Given the description of an element on the screen output the (x, y) to click on. 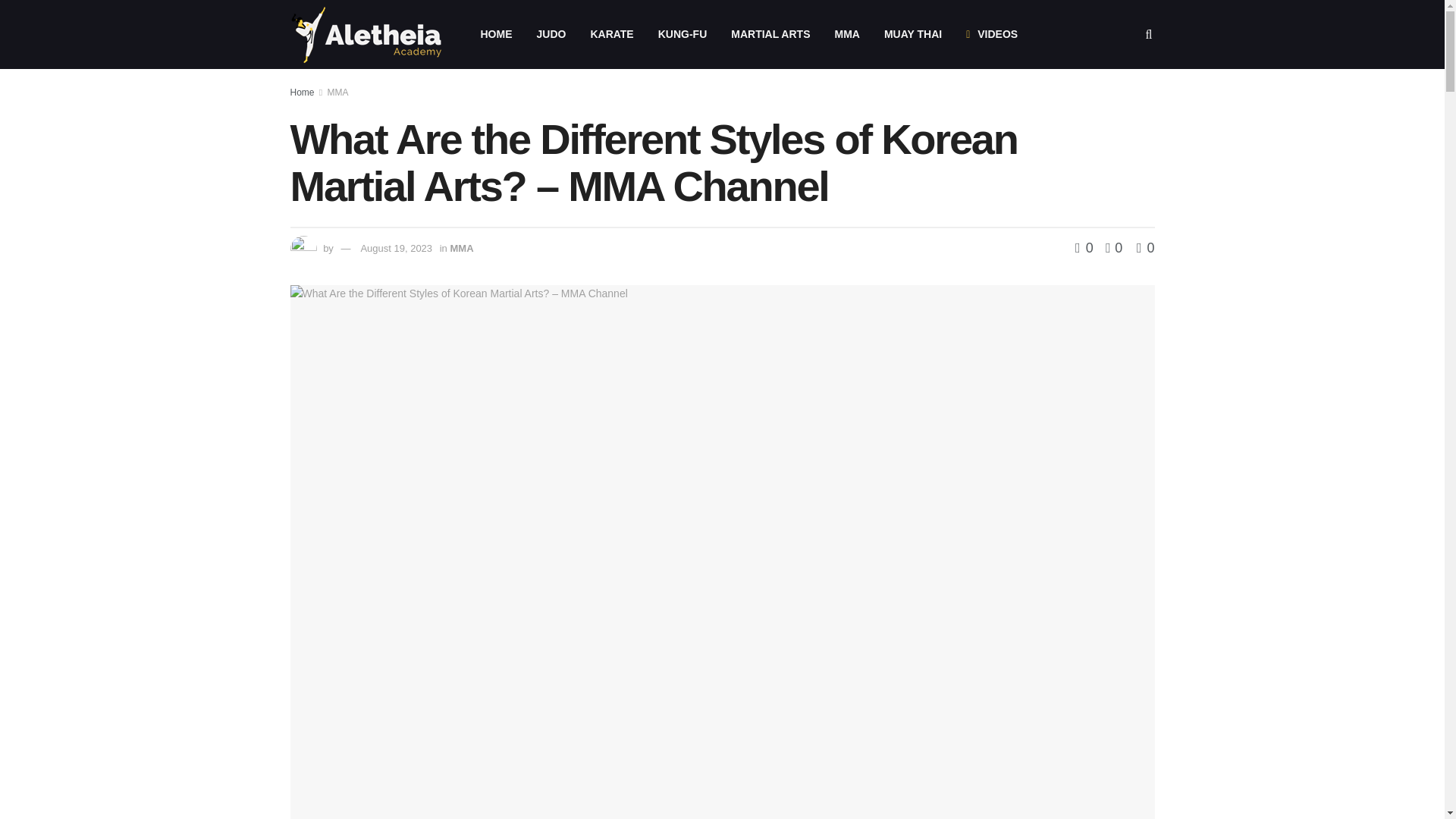
MMA (461, 247)
MUAY THAI (912, 34)
KARATE (611, 34)
0 (1145, 247)
0 (1086, 247)
MMA (338, 91)
KUNG-FU (682, 34)
MARTIAL ARTS (770, 34)
Home (301, 91)
0 (1109, 247)
